Given the description of an element on the screen output the (x, y) to click on. 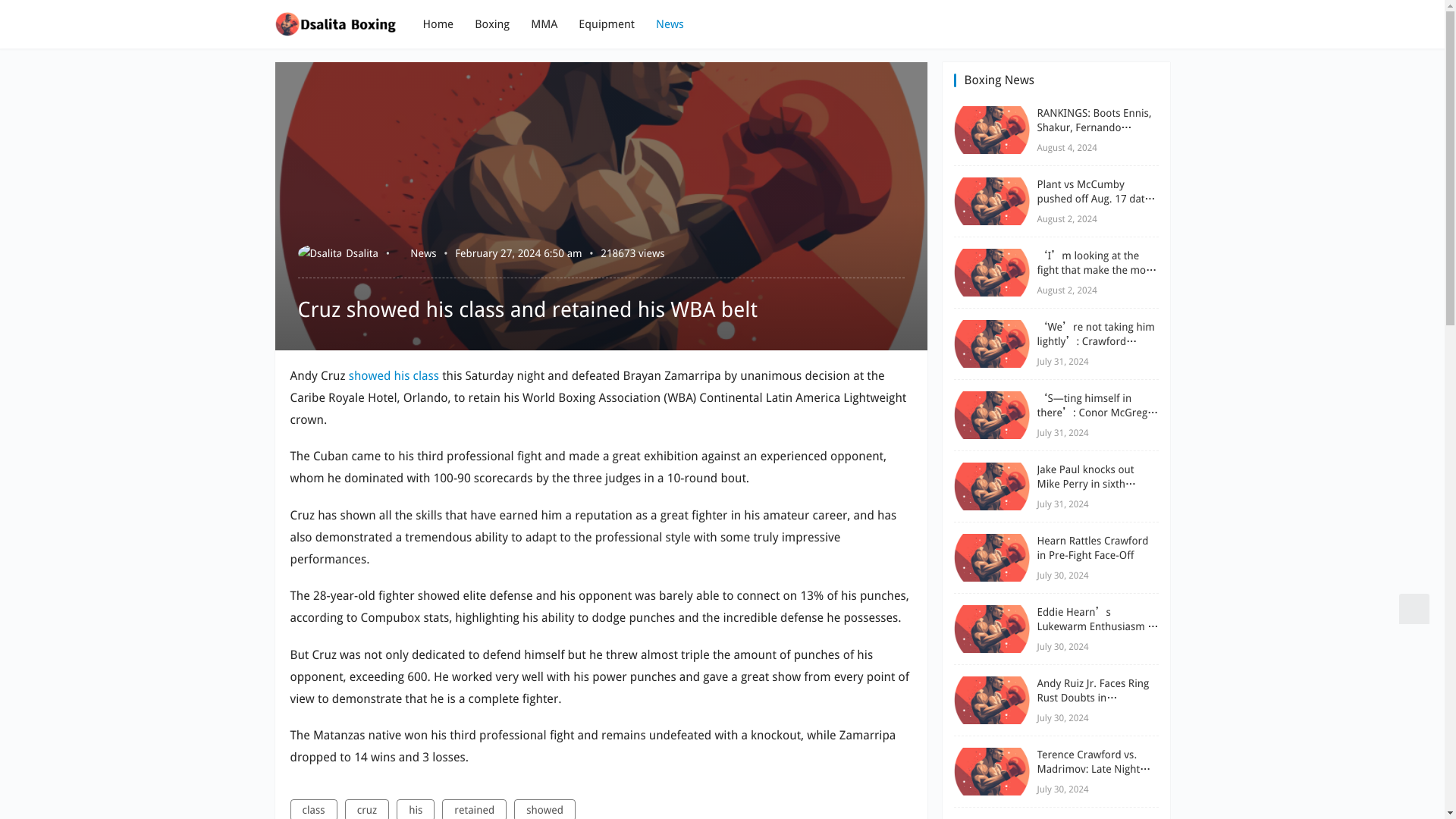
showed (370, 375)
showed (370, 375)
Home (438, 24)
MMA (544, 24)
Equipment (606, 24)
his (402, 375)
Boxing (491, 24)
class (426, 375)
class (426, 375)
cruz (366, 809)
News (422, 253)
his (414, 809)
showed (544, 809)
Dsalita (337, 253)
News (670, 24)
